Given the description of an element on the screen output the (x, y) to click on. 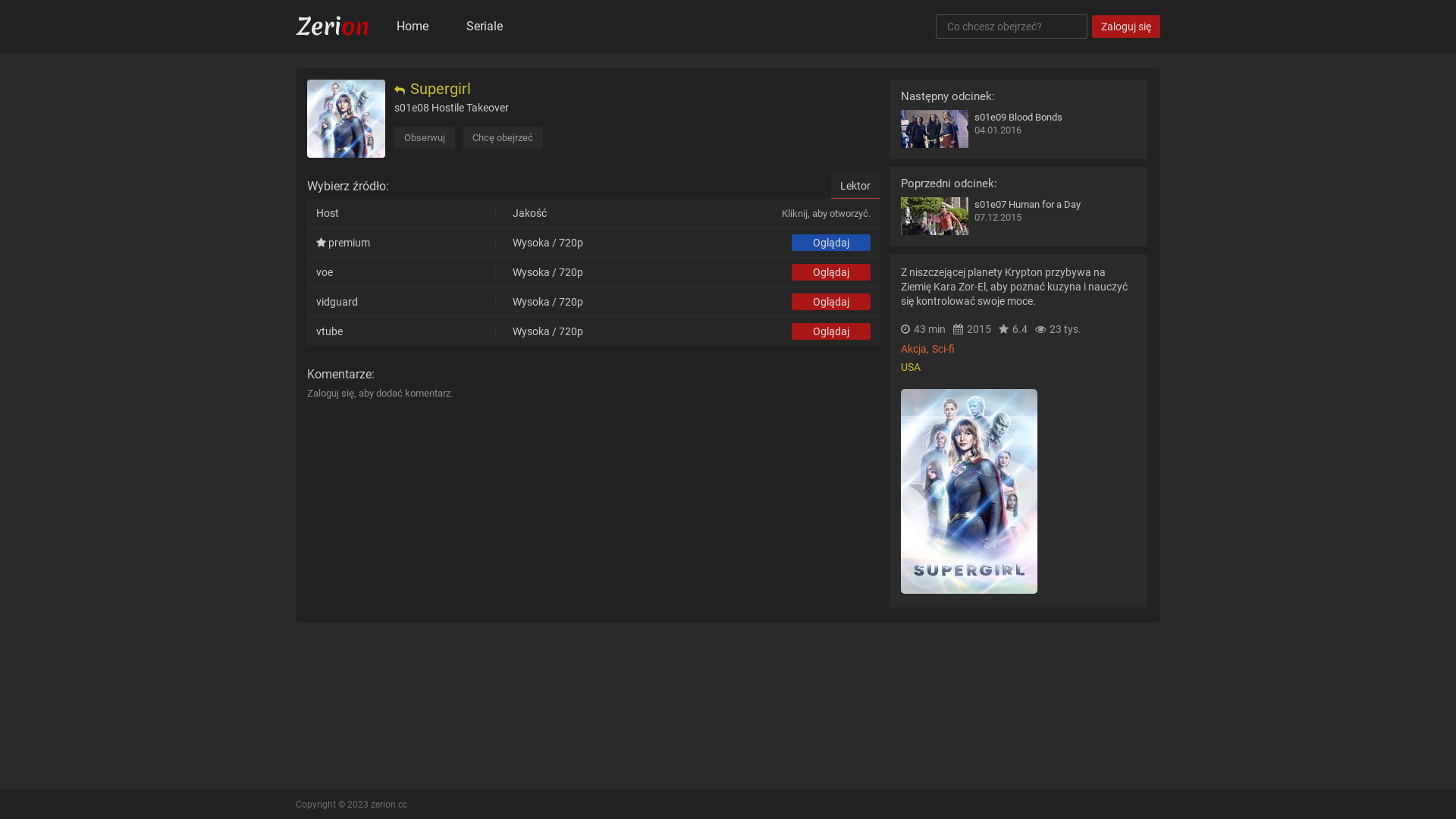
Supergirl Element type: hover (346, 118)
s01e09 Blood Bonds
04.01.2016 Element type: text (1017, 128)
USA Element type: text (911, 366)
Supergirl Element type: text (432, 90)
s01e07 Human for a Day
07.12.2015 Element type: text (1017, 216)
Sci-fi Element type: text (944, 348)
Home Element type: text (412, 26)
Akcja, Element type: text (915, 348)
Seriale Element type: text (484, 26)
